Given the description of an element on the screen output the (x, y) to click on. 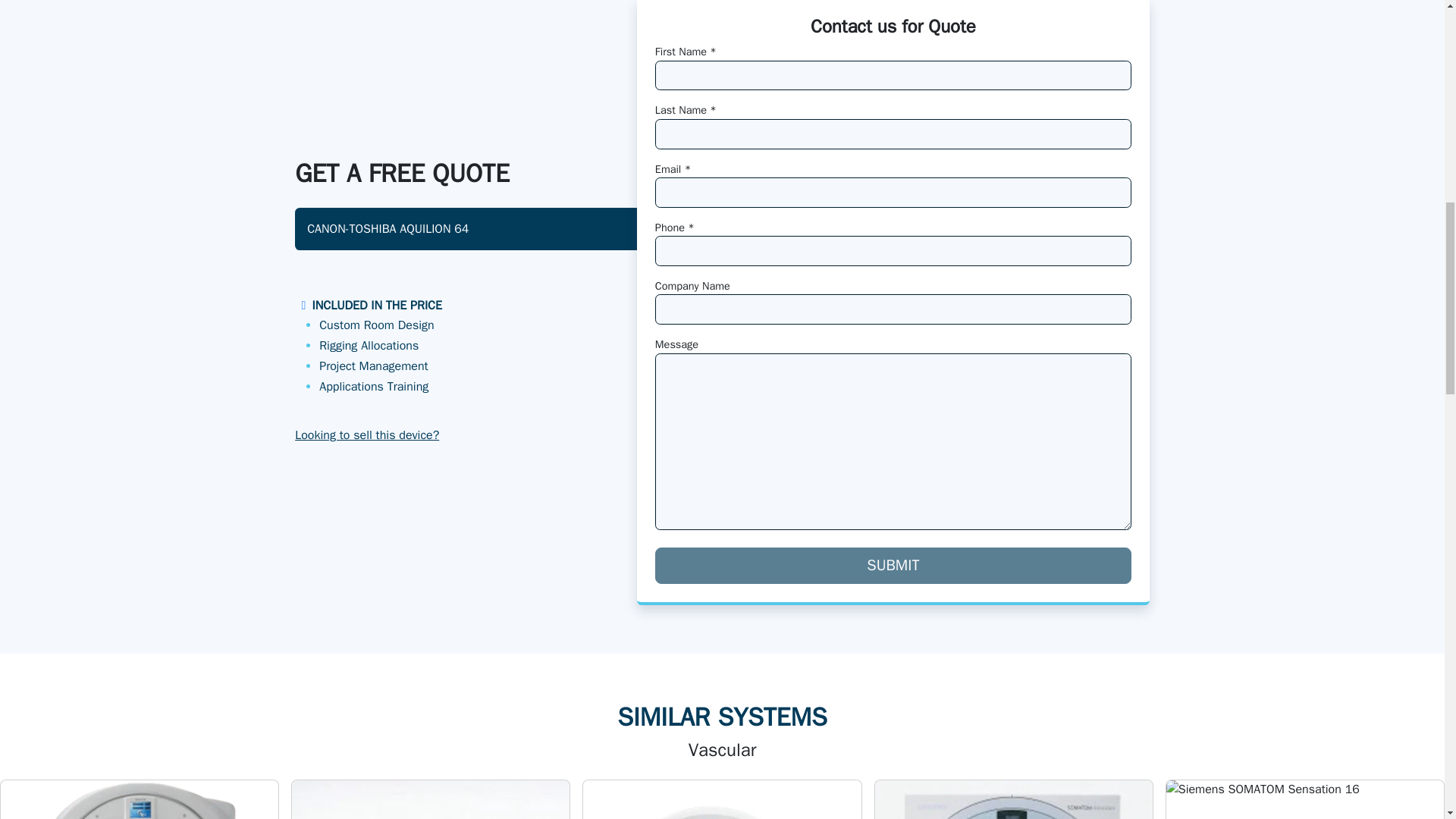
Submit (893, 565)
